Given the description of an element on the screen output the (x, y) to click on. 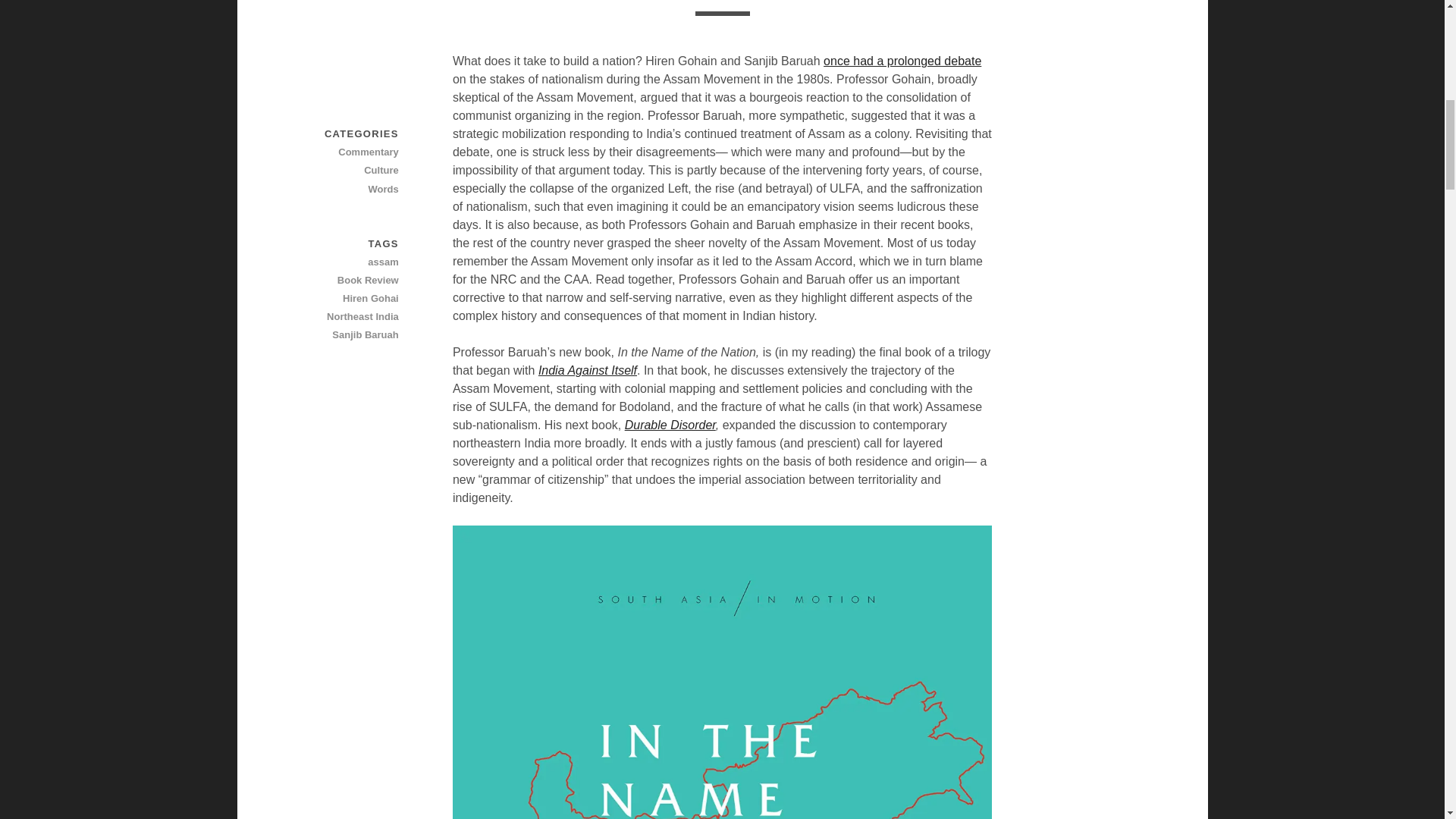
View all posts in Culture (344, 170)
Durable Disorder (670, 424)
View all posts in Words (344, 189)
View all posts in Commentary (344, 152)
once had a prolonged debate (902, 60)
India Against Itself (587, 369)
